Given the description of an element on the screen output the (x, y) to click on. 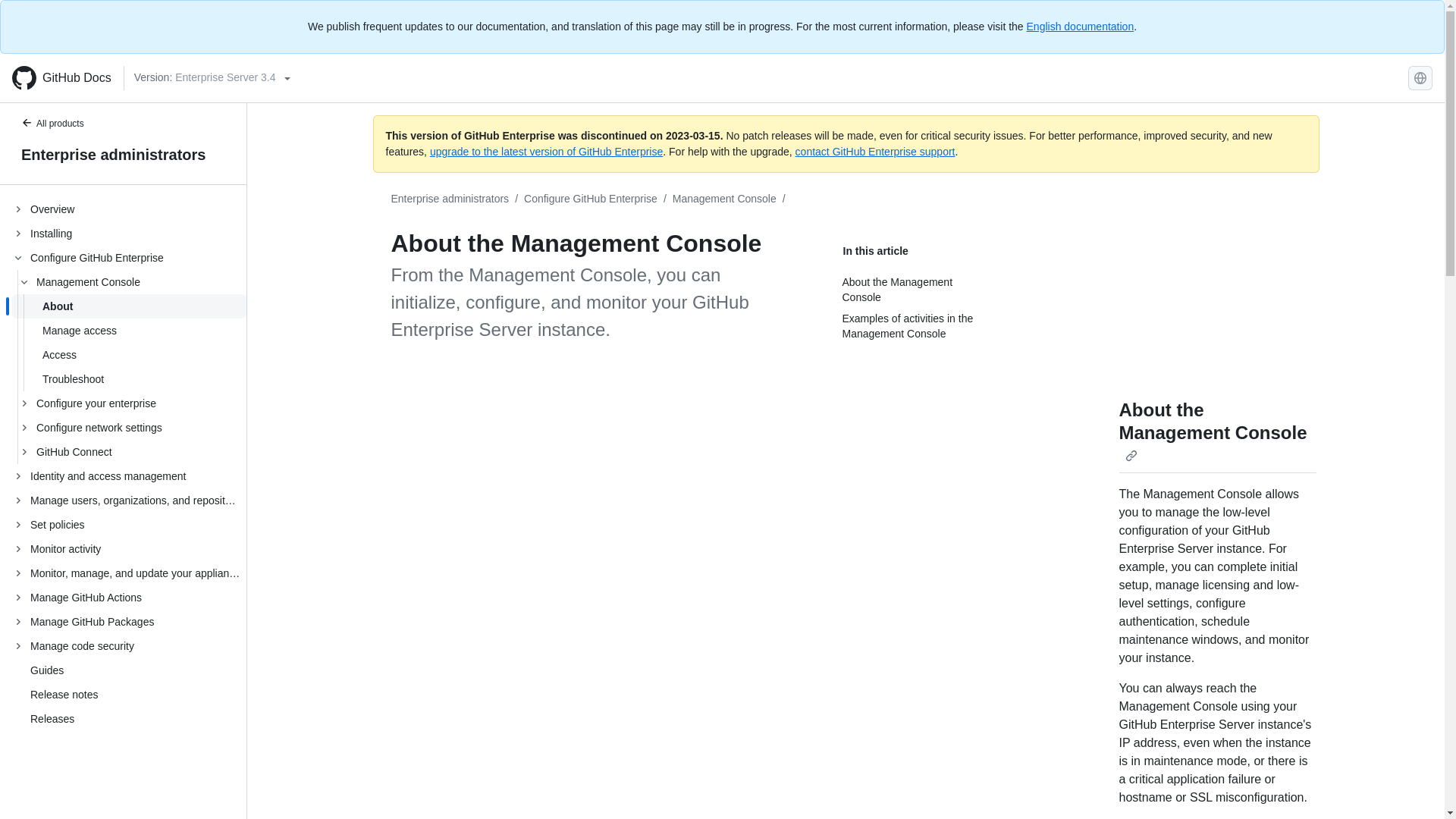
Enterprise administrators (122, 154)
Access (128, 354)
Examples of activities in the Management Console (916, 325)
Enterprise administrators (450, 198)
Management Console (724, 198)
Releases (52, 718)
Guides (47, 670)
contact GitHub Enterprise support (874, 151)
GitHub Docs (61, 78)
Release notes (64, 694)
Configure GitHub Enterprise (591, 198)
About (128, 306)
upgrade to the latest version of GitHub Enterprise (545, 151)
Configure GitHub Enterprise (591, 198)
About the Management Console (1213, 432)
